Given the description of an element on the screen output the (x, y) to click on. 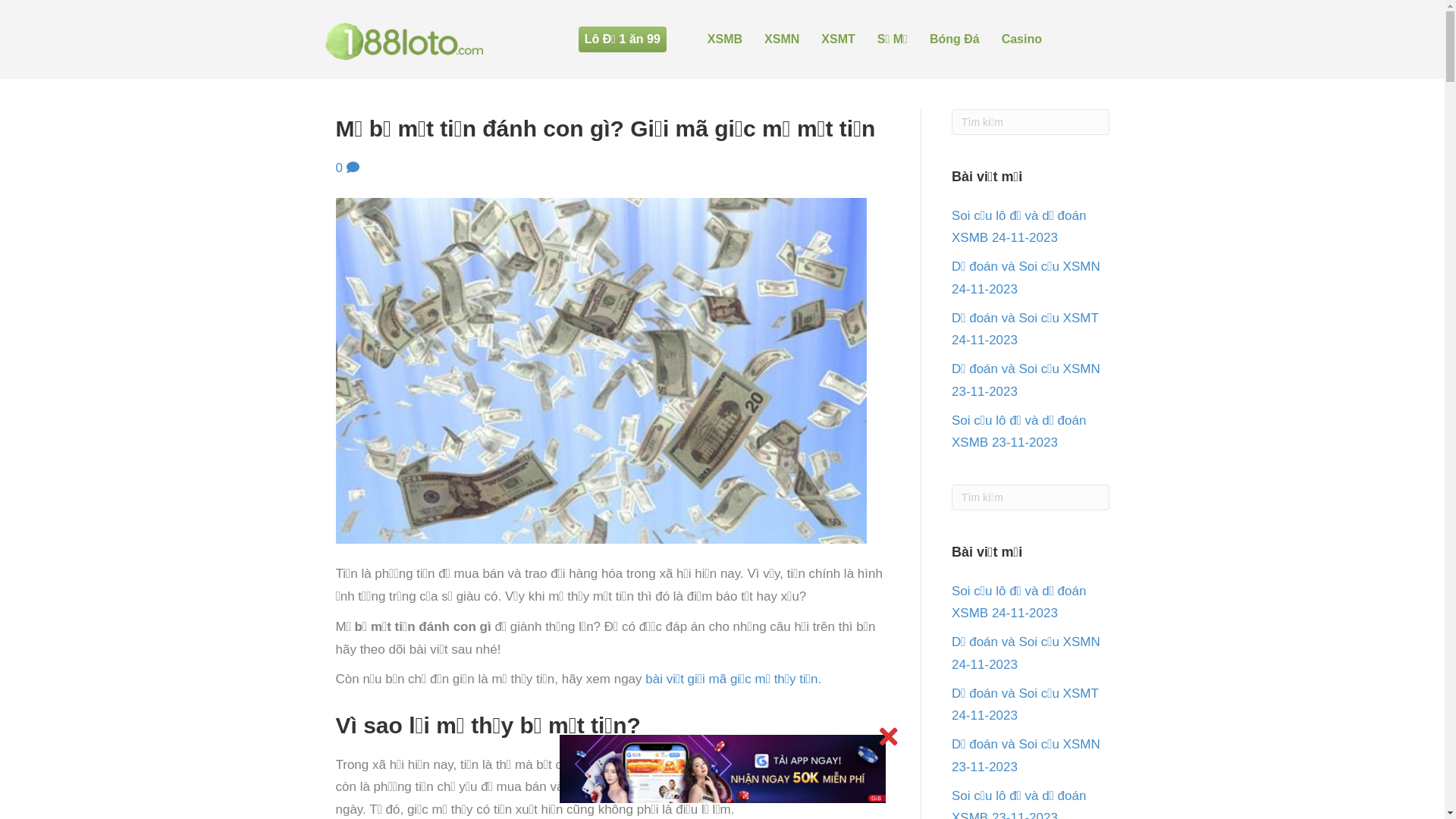
XSMB Element type: text (724, 39)
XSMN Element type: text (781, 39)
0 Element type: text (346, 167)
XSMT Element type: text (837, 39)
Logo_188Loto Element type: hover (401, 39)
Casino Element type: text (1021, 39)
